Given the description of an element on the screen output the (x, y) to click on. 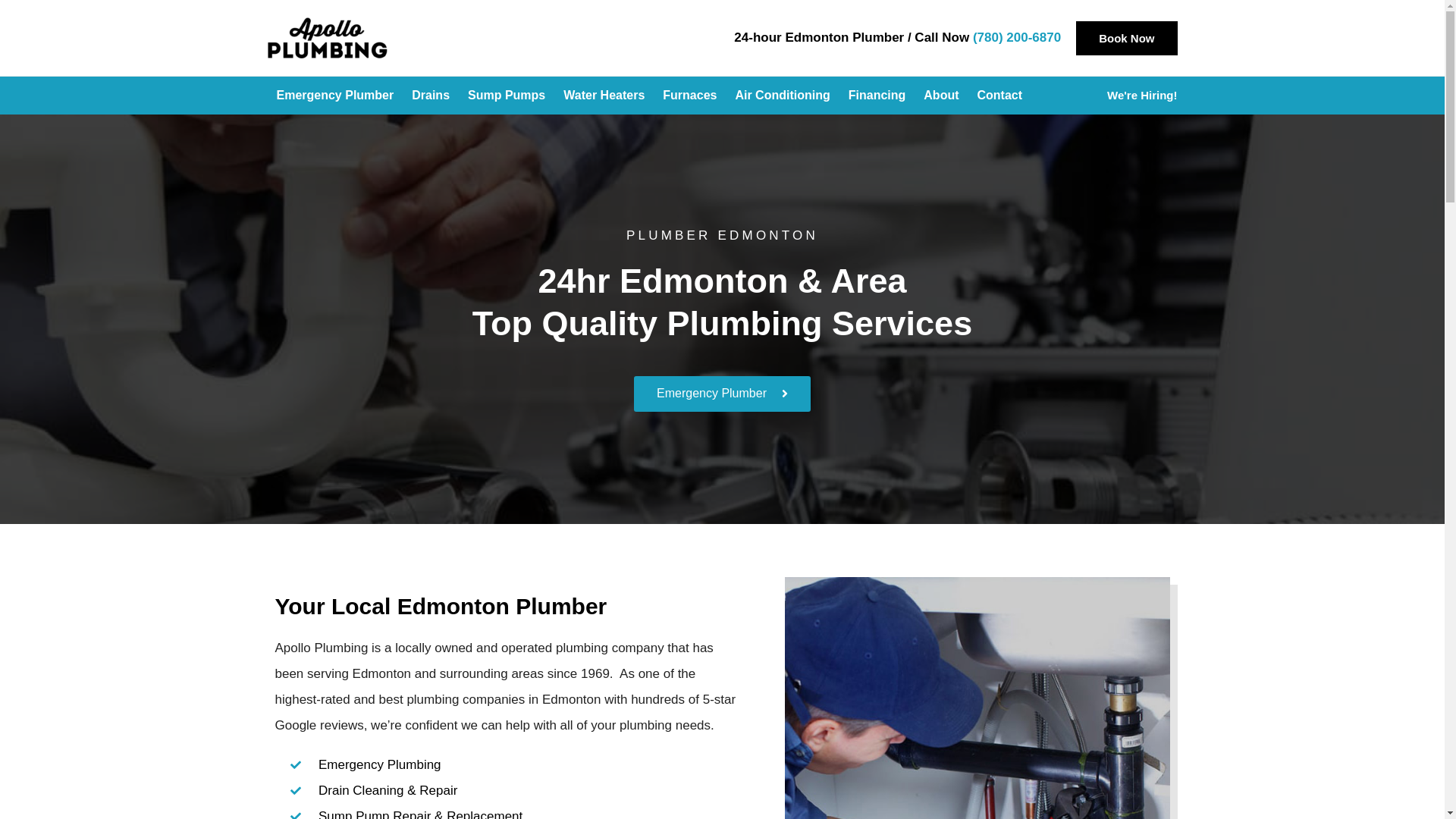
Emergency Plumber Element type: text (334, 95)
Water Heaters Element type: text (603, 95)
Book Now Element type: text (1126, 38)
Contact Element type: text (999, 95)
About Element type: text (940, 95)
Drains Element type: text (430, 95)
(780) 200-6870 Element type: text (1016, 37)
Air Conditioning Element type: text (781, 95)
Sump Pumps Element type: text (506, 95)
Emergency Plumber Element type: text (721, 393)
Emergency Plumbing Element type: text (514, 765)
Financing Element type: text (877, 95)
We're Hiring! Element type: text (1141, 94)
Furnaces Element type: text (689, 95)
Drain Cleaning & Repair Element type: text (514, 790)
